Given the description of an element on the screen output the (x, y) to click on. 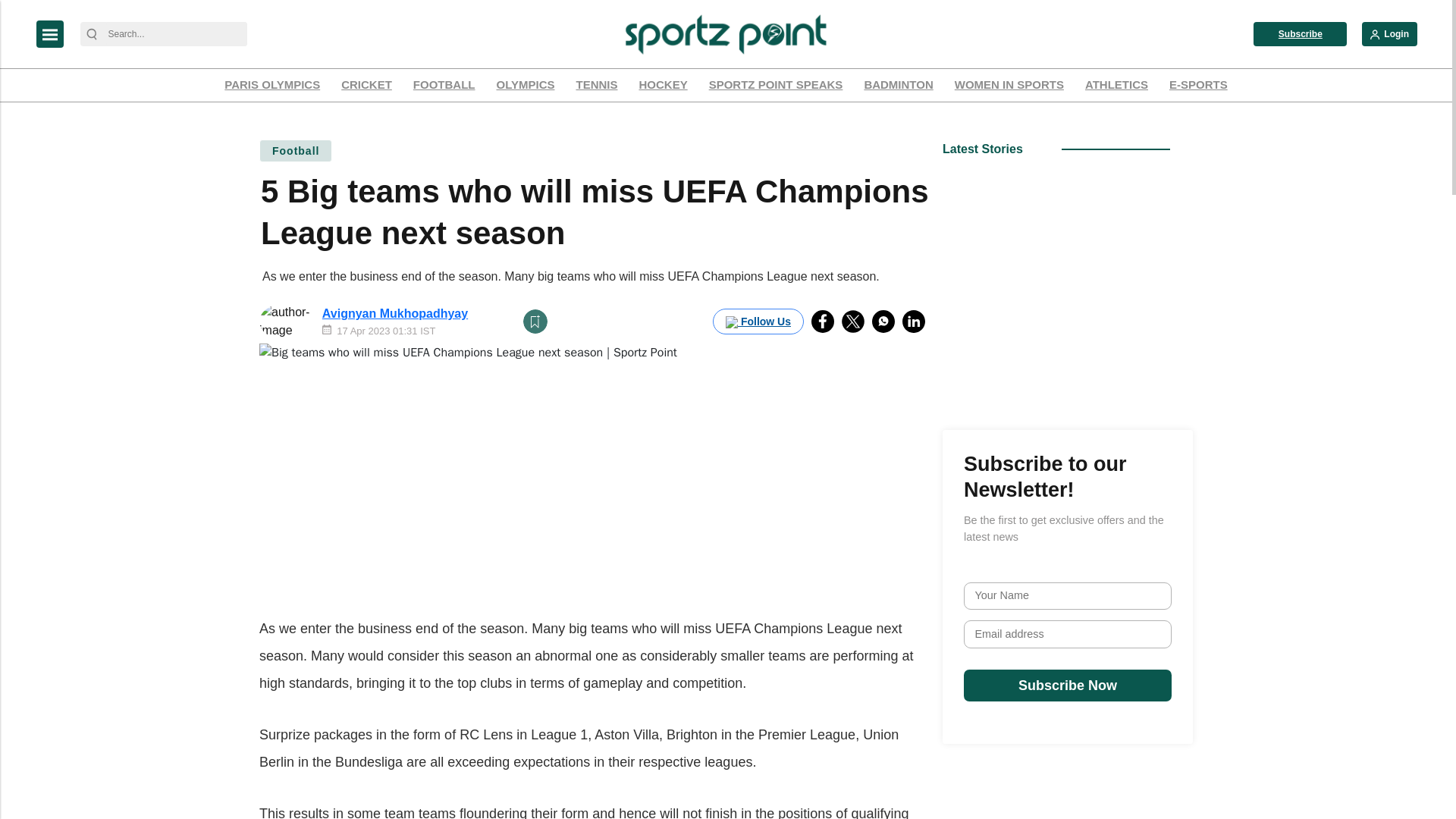
Avignyan Mukhopadhyay (394, 313)
PARIS OLYMPICS (271, 84)
Subscribe (1299, 33)
OLYMPICS (526, 84)
SPORTZ POINT SPEAKS (775, 84)
BADMINTON (898, 84)
CRICKET (366, 84)
Login (1388, 33)
WOMEN IN SPORTS (1008, 84)
FOOTBALL (443, 84)
HOCKEY (663, 84)
Football (295, 150)
E-SPORTS (1198, 84)
TENNIS (596, 84)
ATHLETICS (1116, 84)
